Given the description of an element on the screen output the (x, y) to click on. 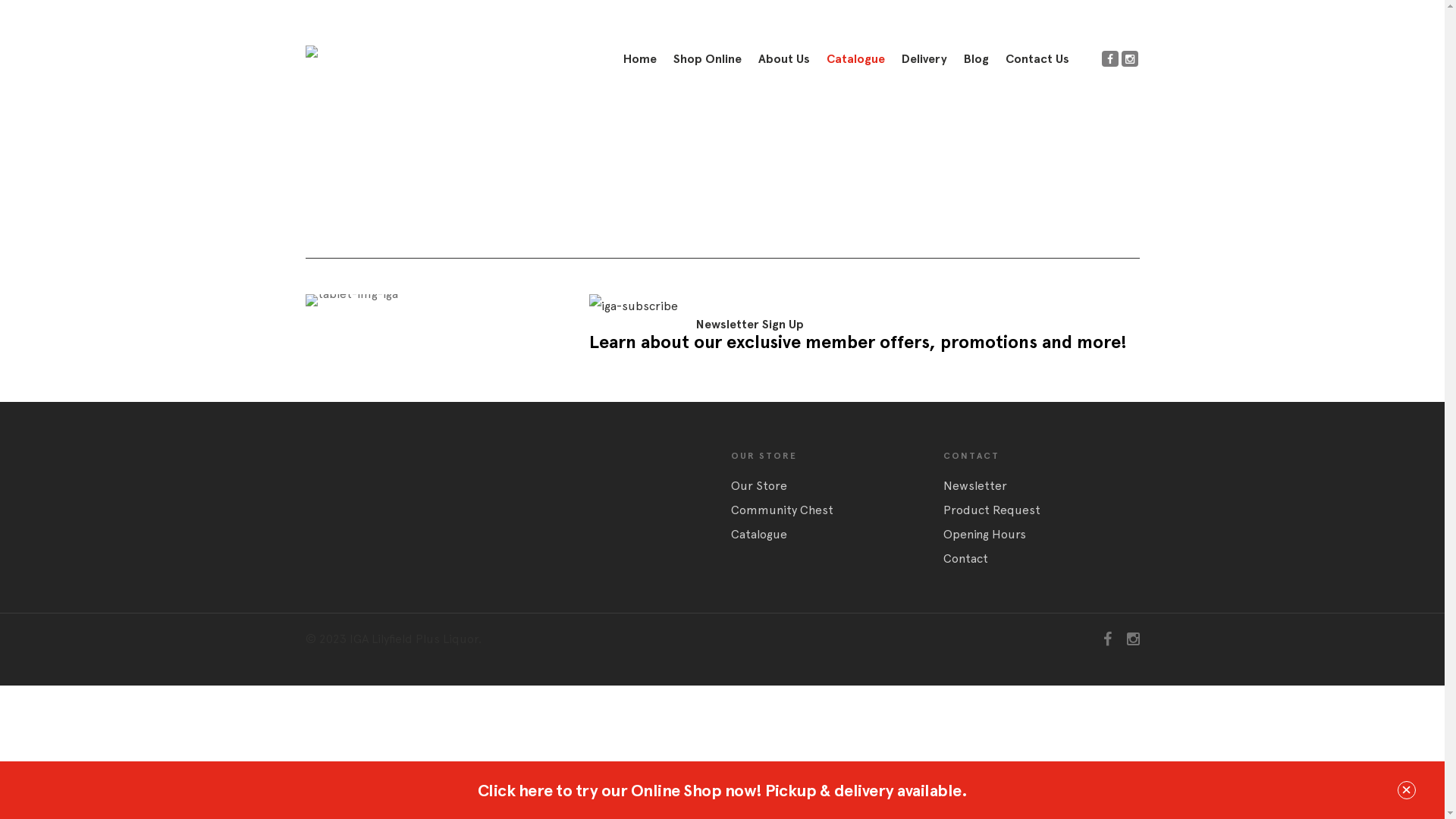
Catalogue Element type: text (855, 58)
Contact Us Element type: text (1036, 58)
Community Chest Element type: text (829, 510)
Delivery Element type: text (923, 58)
Shop Online Element type: text (707, 58)
About Us Element type: text (783, 58)
Opening Hours Element type: text (1041, 534)
Product Request Element type: text (1041, 510)
Blog Element type: text (975, 58)
Home Element type: text (639, 58)
Contact Element type: text (1041, 558)
Catalogue Element type: text (829, 534)
Newsletter Element type: text (1041, 485)
Our Store Element type: text (829, 485)
